Given the description of an element on the screen output the (x, y) to click on. 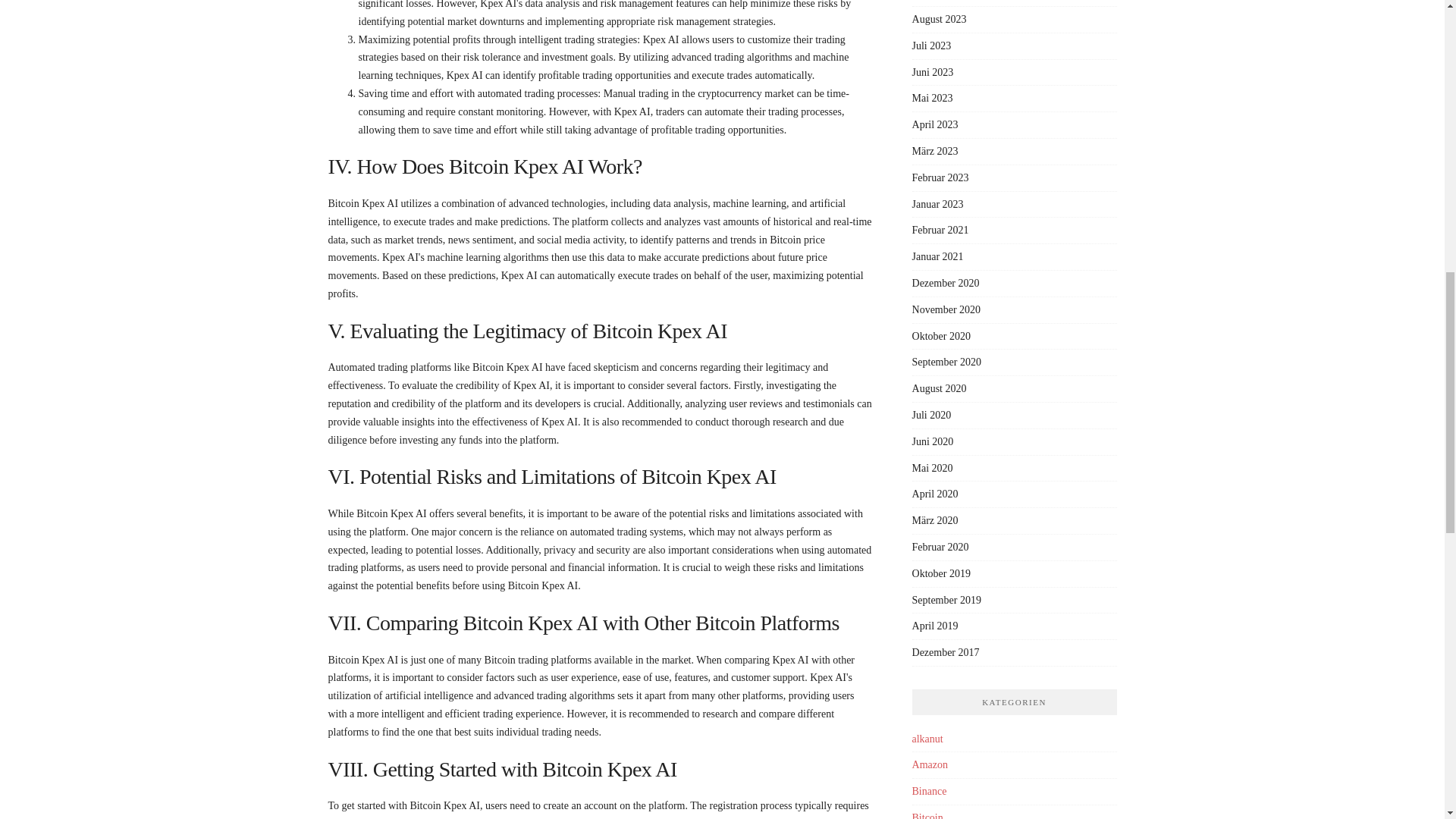
April 2023 (935, 124)
August 2020 (939, 388)
April 2020 (935, 493)
Januar 2023 (937, 204)
September 2020 (946, 361)
Juni 2020 (932, 441)
November 2020 (946, 309)
Januar 2021 (937, 256)
Juni 2023 (932, 71)
August 2023 (939, 19)
